Given the description of an element on the screen output the (x, y) to click on. 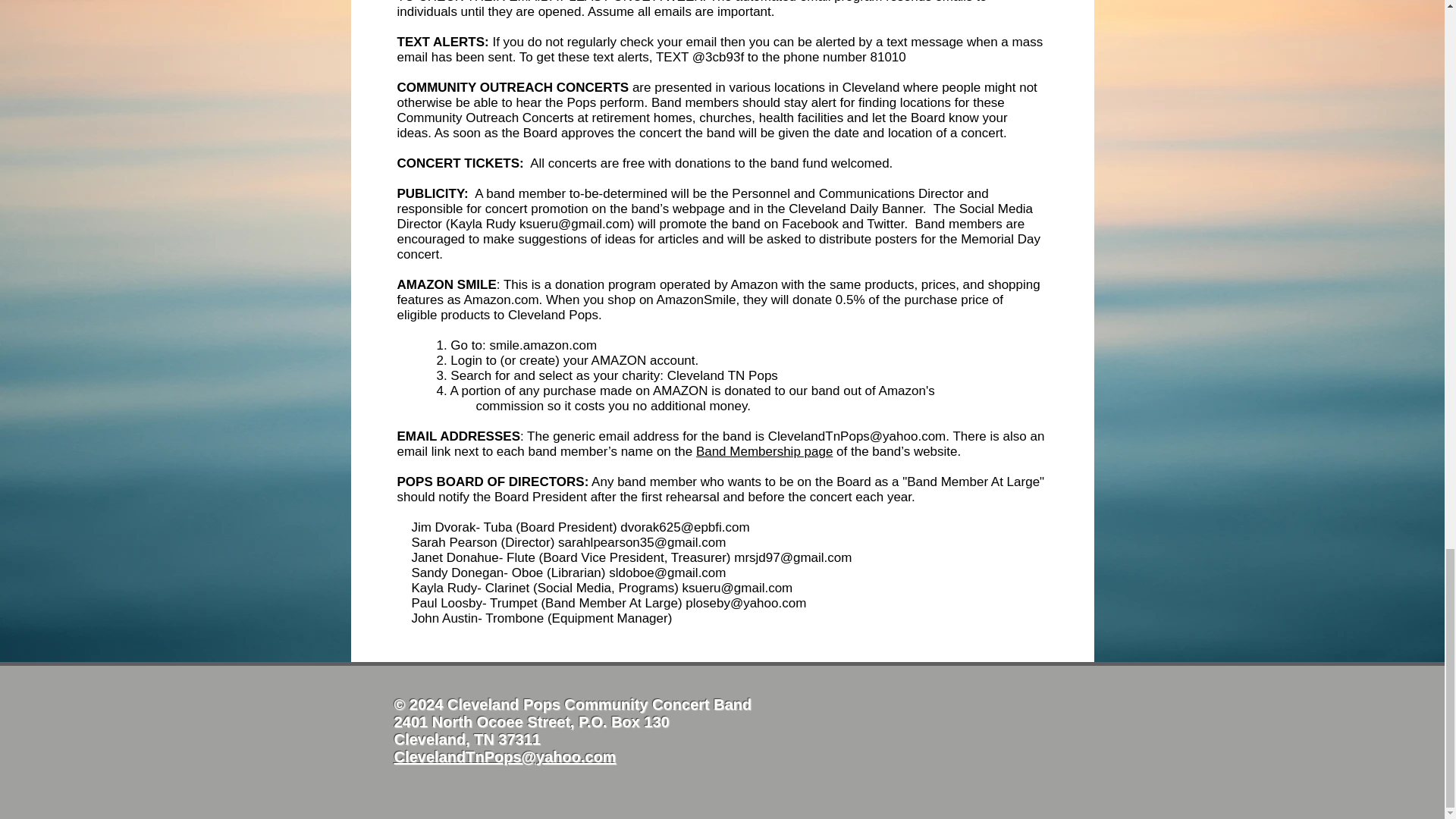
Band Membership page (763, 451)
